Given the description of an element on the screen output the (x, y) to click on. 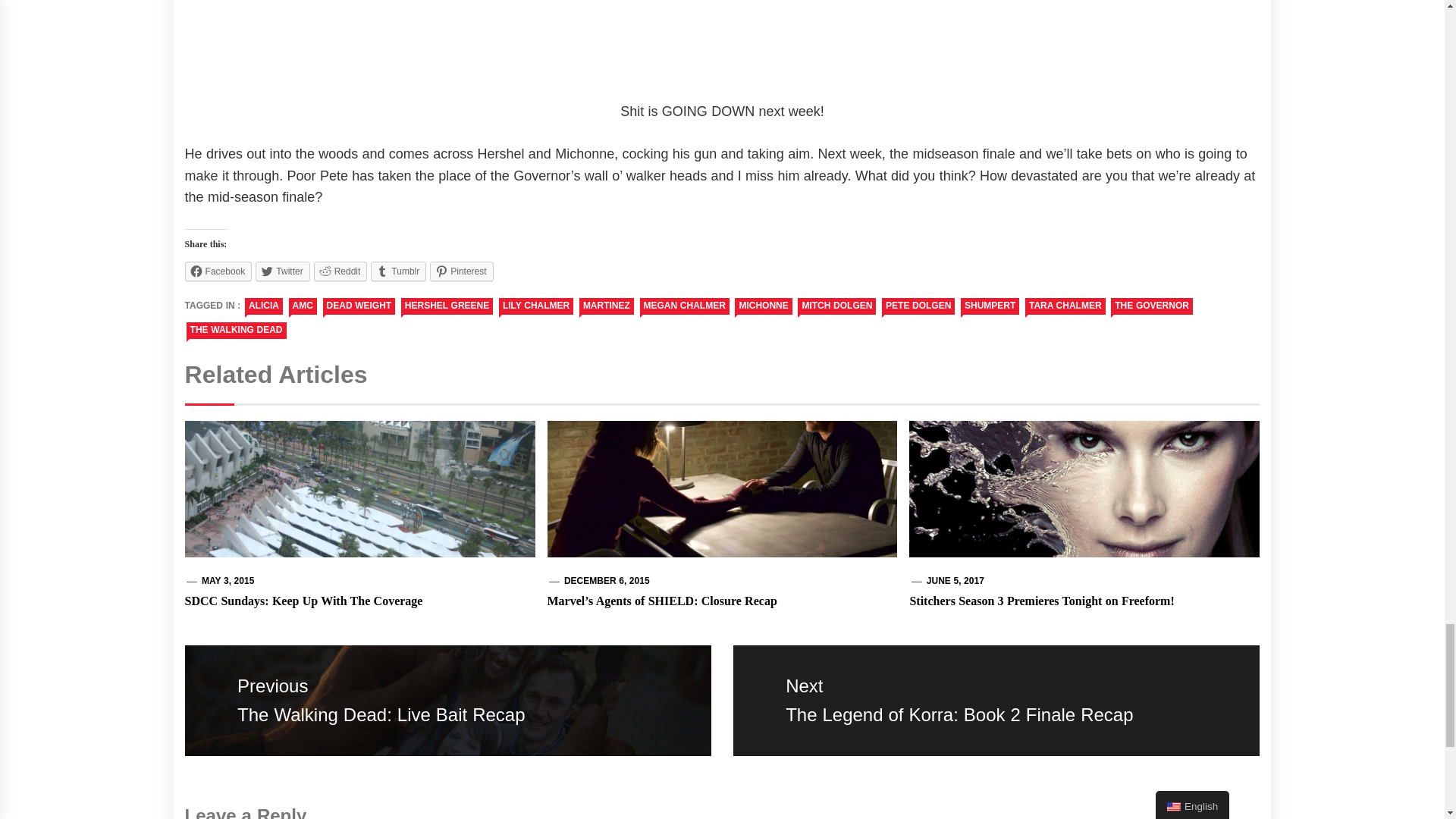
Click to share on Facebook (217, 271)
ALICIA (263, 306)
Tumblr (398, 271)
Click to share on Twitter (282, 271)
DEAD WEIGHT (359, 306)
Twitter (282, 271)
HERSHEL GREENE (447, 306)
AMC (302, 306)
MICHONNE (763, 306)
Reddit (341, 271)
Facebook (217, 271)
Pinterest (461, 271)
Click to share on Pinterest (461, 271)
Click to share on Tumblr (398, 271)
MEGAN CHALMER (684, 306)
